Given the description of an element on the screen output the (x, y) to click on. 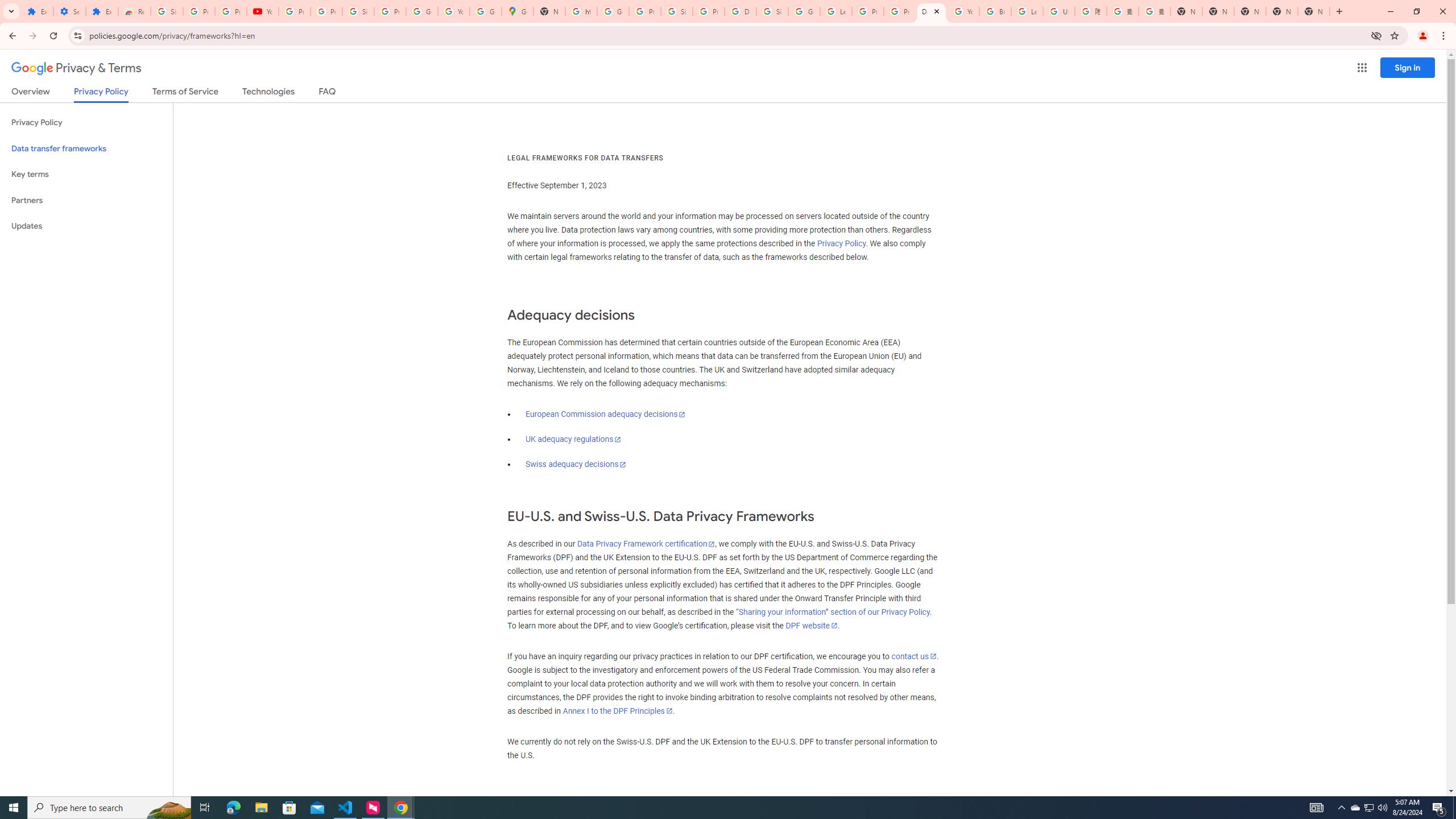
Data Privacy Framework certification (645, 543)
Annex I to the DPF Principles (617, 710)
Swiss adequacy decisions (575, 464)
